Given the description of an element on the screen output the (x, y) to click on. 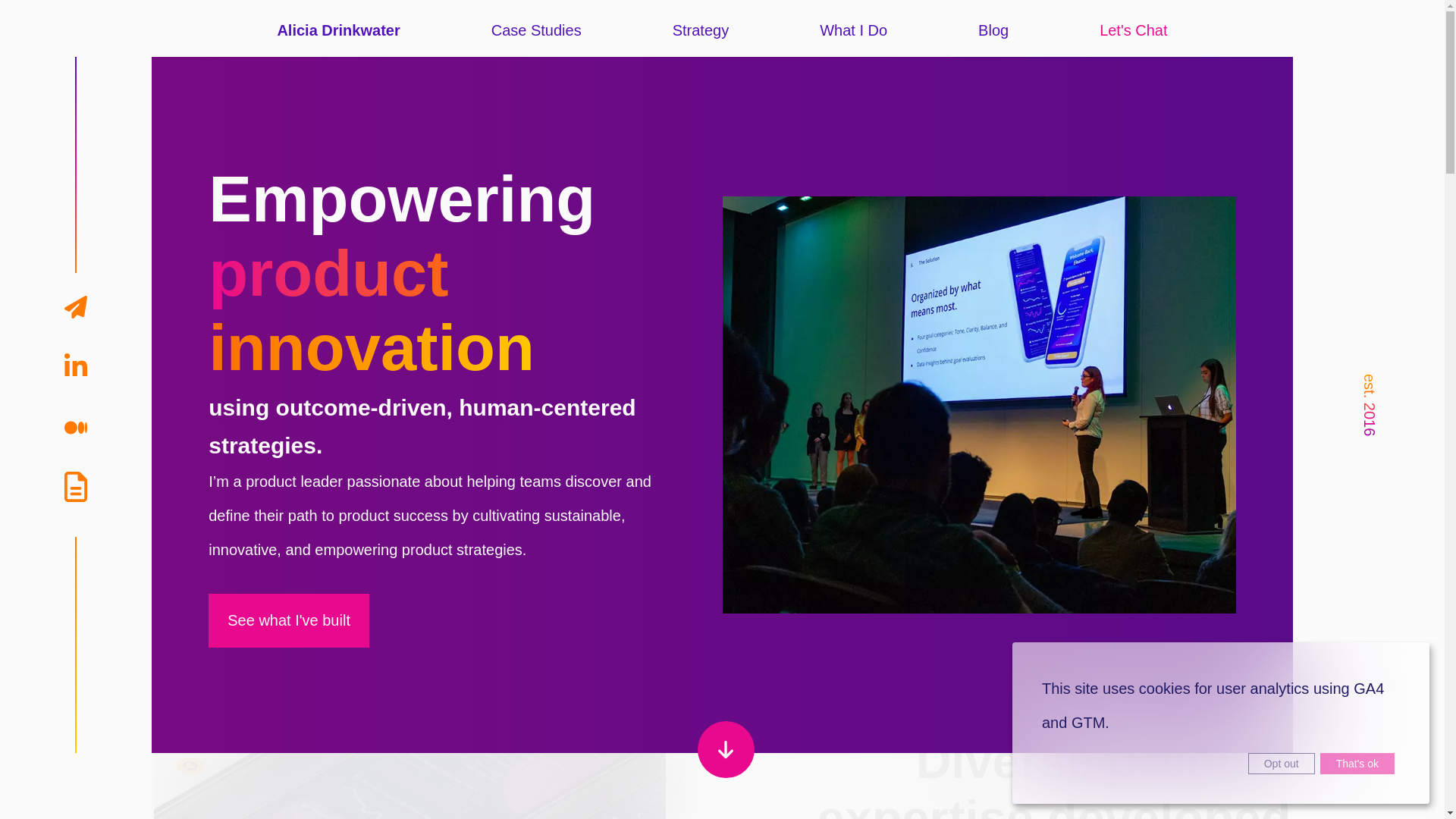
Let's Chat (1133, 29)
Alicia Drinkwater (337, 29)
Blog (993, 29)
See what I've built (288, 620)
Opt out (1280, 762)
That's ok (1357, 762)
Strategy (700, 29)
What I Do (852, 29)
Case Studies (536, 29)
